Given the description of an element on the screen output the (x, y) to click on. 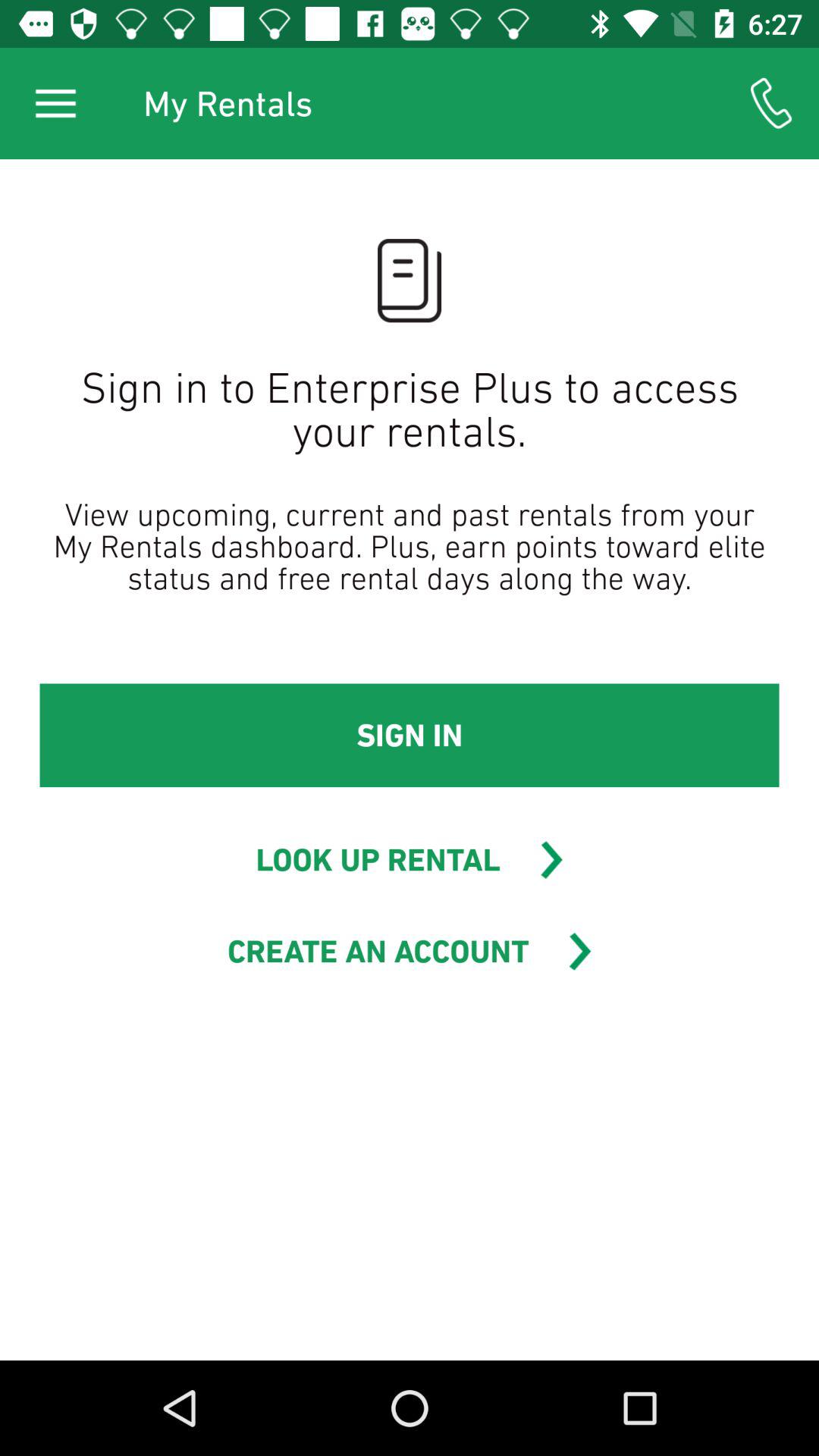
launch the icon to the left of my rentals (55, 103)
